Given the description of an element on the screen output the (x, y) to click on. 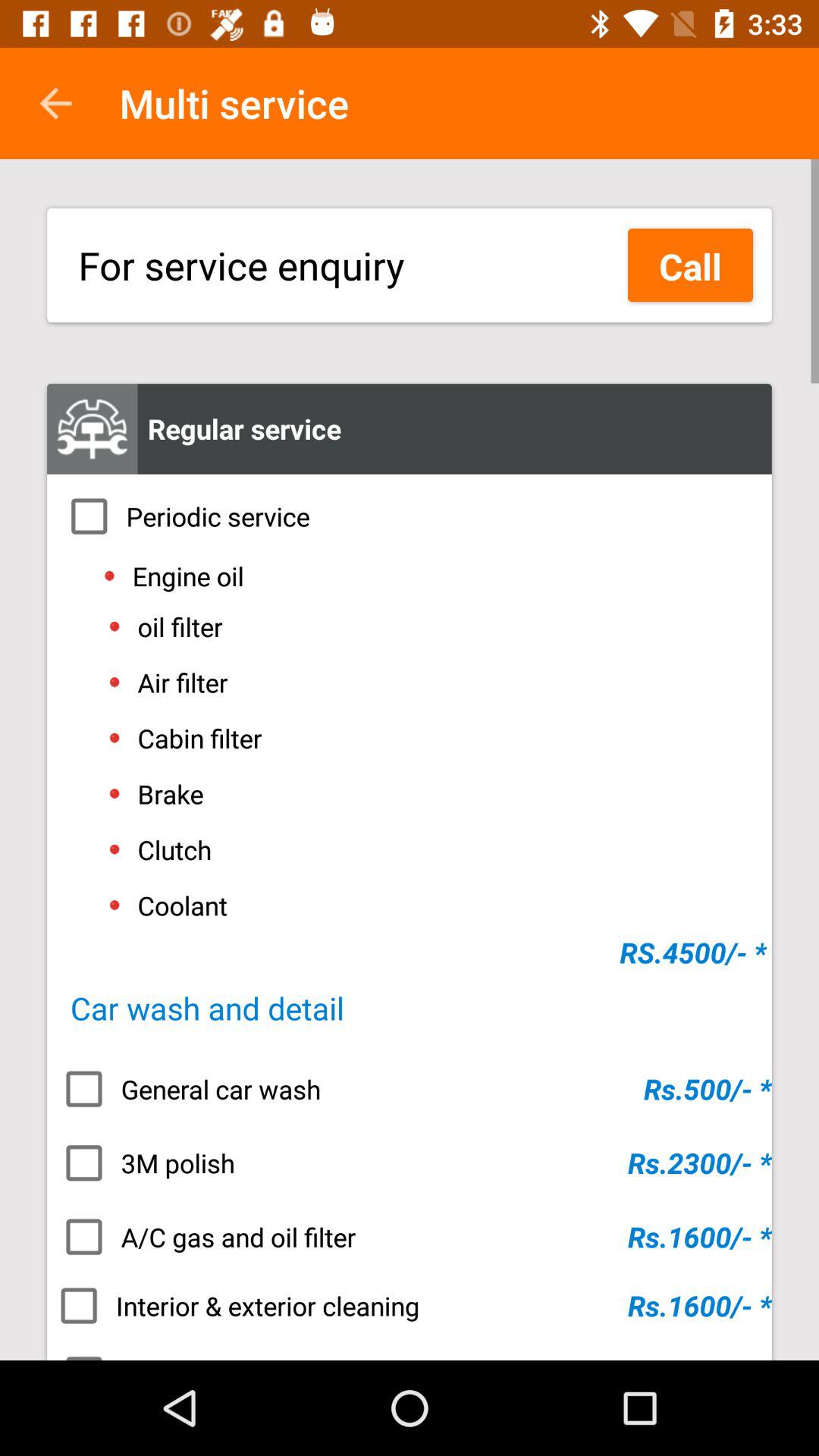
turn on icon next to the multi service item (55, 103)
